Given the description of an element on the screen output the (x, y) to click on. 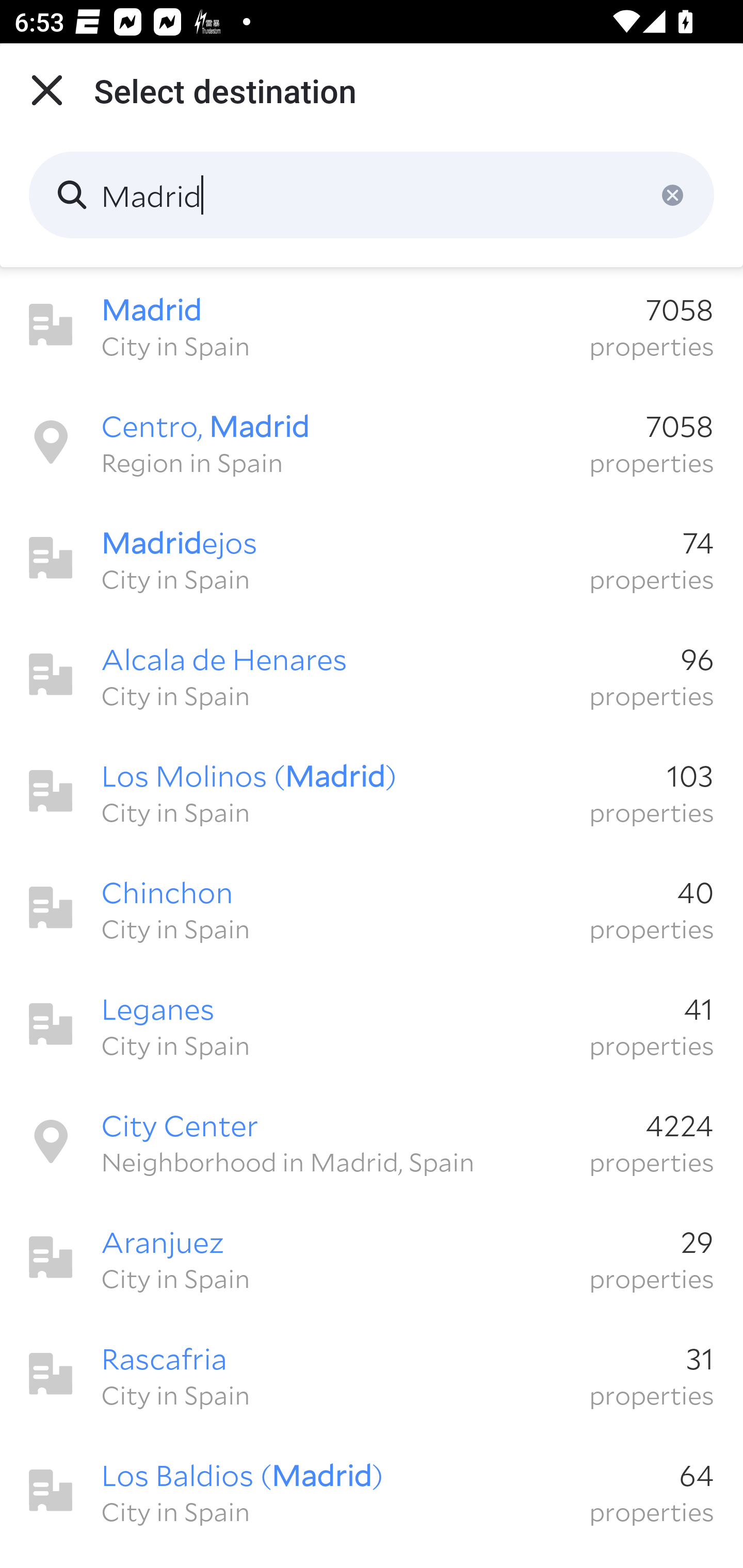
Madrid (371, 195)
Madrid 7058 City in Spain properties (371, 325)
Centro, Madrid 7058 Region in Spain properties (371, 442)
Madridejos 74 City in Spain properties (371, 558)
Alcala de Henares 96 City in Spain properties (371, 674)
Los Molinos (Madrid) 103 City in Spain properties (371, 791)
Chinchon 40 City in Spain properties (371, 907)
Leganes 41 City in Spain properties (371, 1024)
Aranjuez 29 City in Spain properties (371, 1257)
Rascafria 31 City in Spain properties (371, 1374)
Los Baldios (Madrid) 64 City in Spain properties (371, 1491)
